Given the description of an element on the screen output the (x, y) to click on. 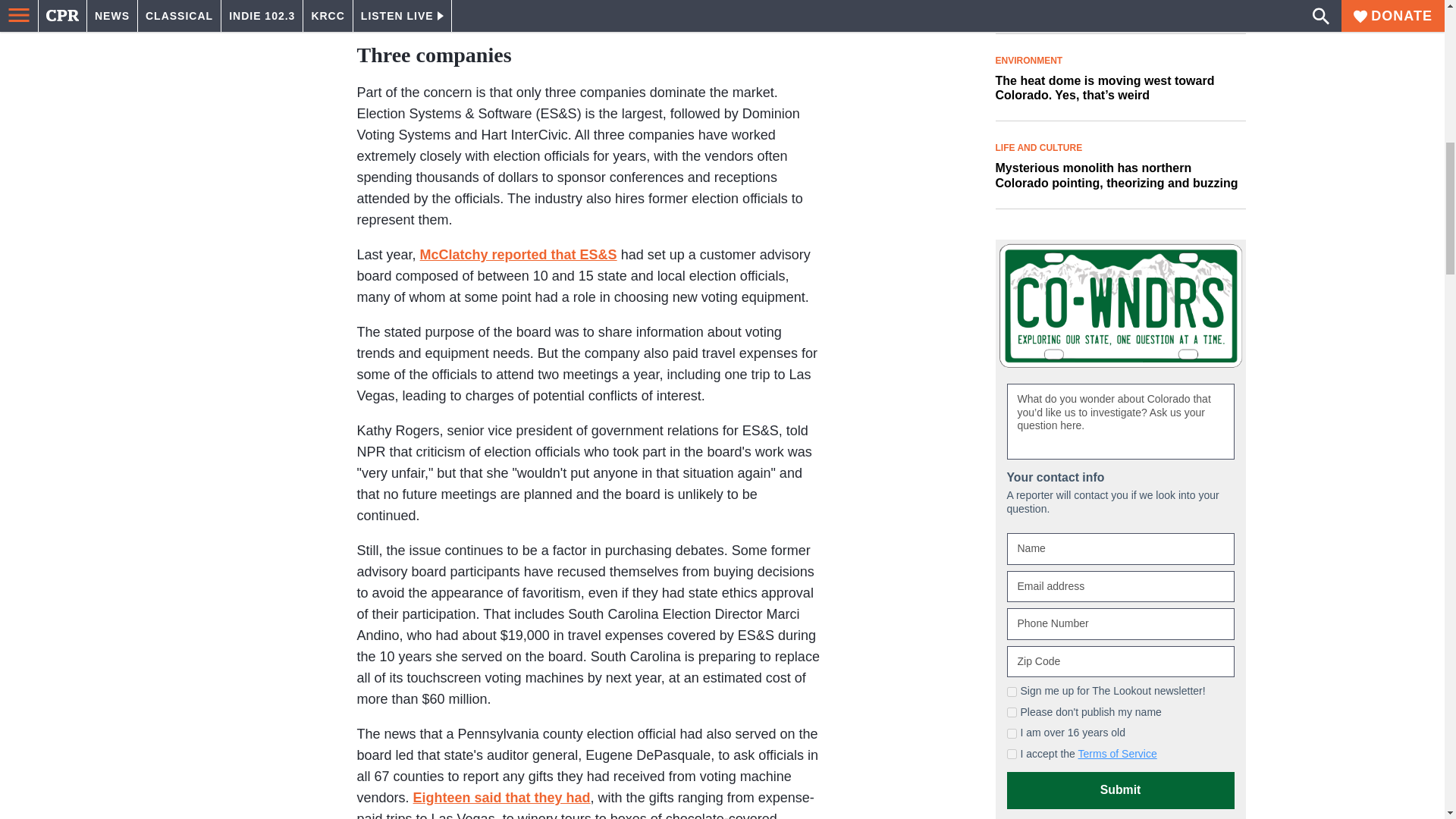
on (1011, 712)
on (1011, 733)
on (1011, 691)
on (1011, 754)
